Given the description of an element on the screen output the (x, y) to click on. 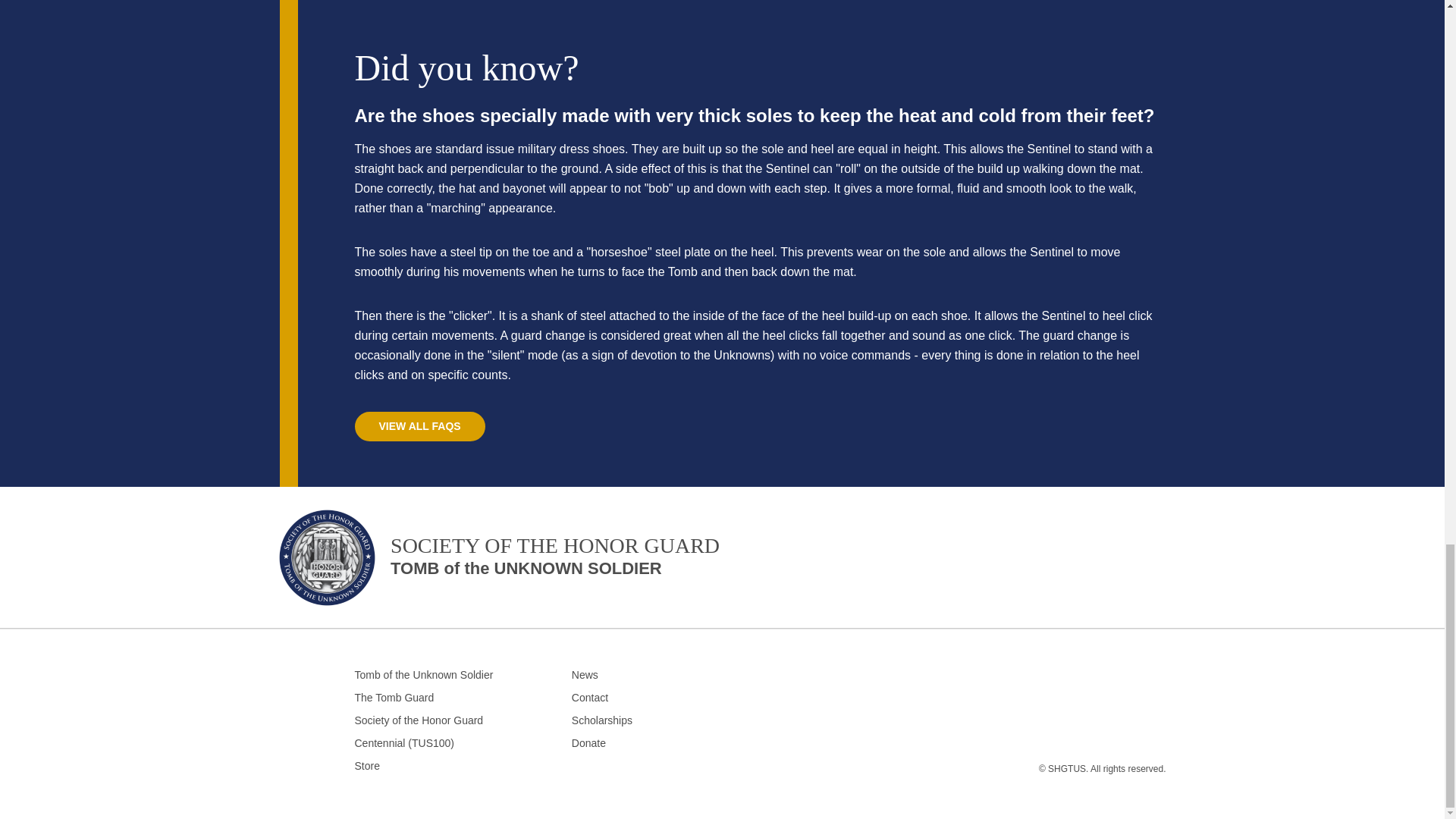
VIEW ALL FAQS (419, 426)
News (641, 674)
Tomb of the Unknown Soldier (463, 674)
The Tomb Guard (499, 562)
Scholarships (463, 697)
Store (641, 720)
Donate (463, 765)
Society of the Honor Guard (641, 743)
Contact (463, 720)
